Given the description of an element on the screen output the (x, y) to click on. 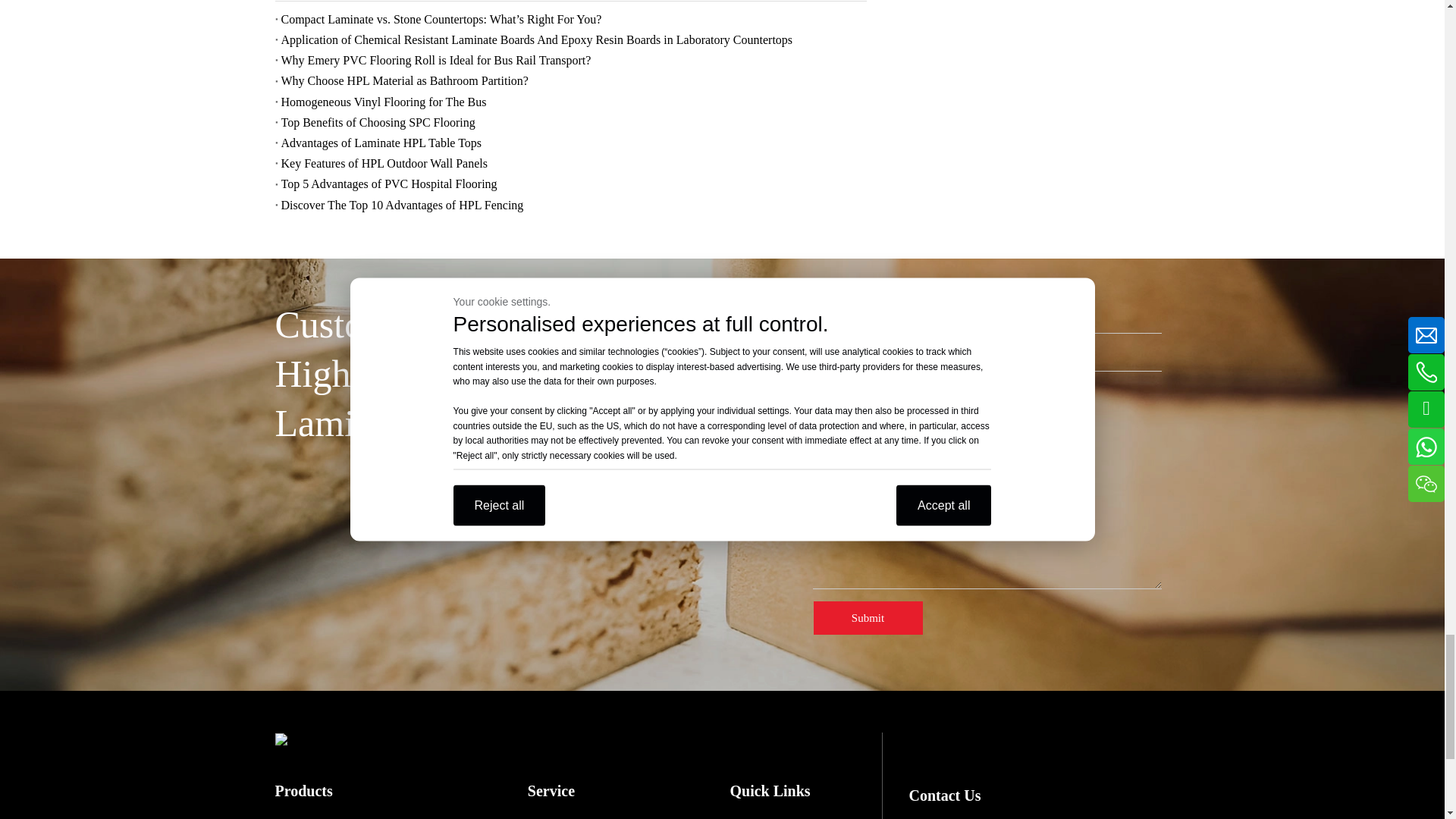
Wholesaler (820, 472)
Manufacturer (820, 447)
Why Emery PVC Flooring Roll is Ideal for Bus Rail Transport? (570, 59)
Top Benefits of Choosing SPC Flooring (570, 122)
Advantages of Laminate HPL Table Tops (570, 142)
Self use (820, 497)
Distributor (820, 422)
Key Features of HPL Outdoor Wall Panels (570, 163)
Why Choose HPL Material as Bathroom Partition? (570, 80)
